Given the description of an element on the screen output the (x, y) to click on. 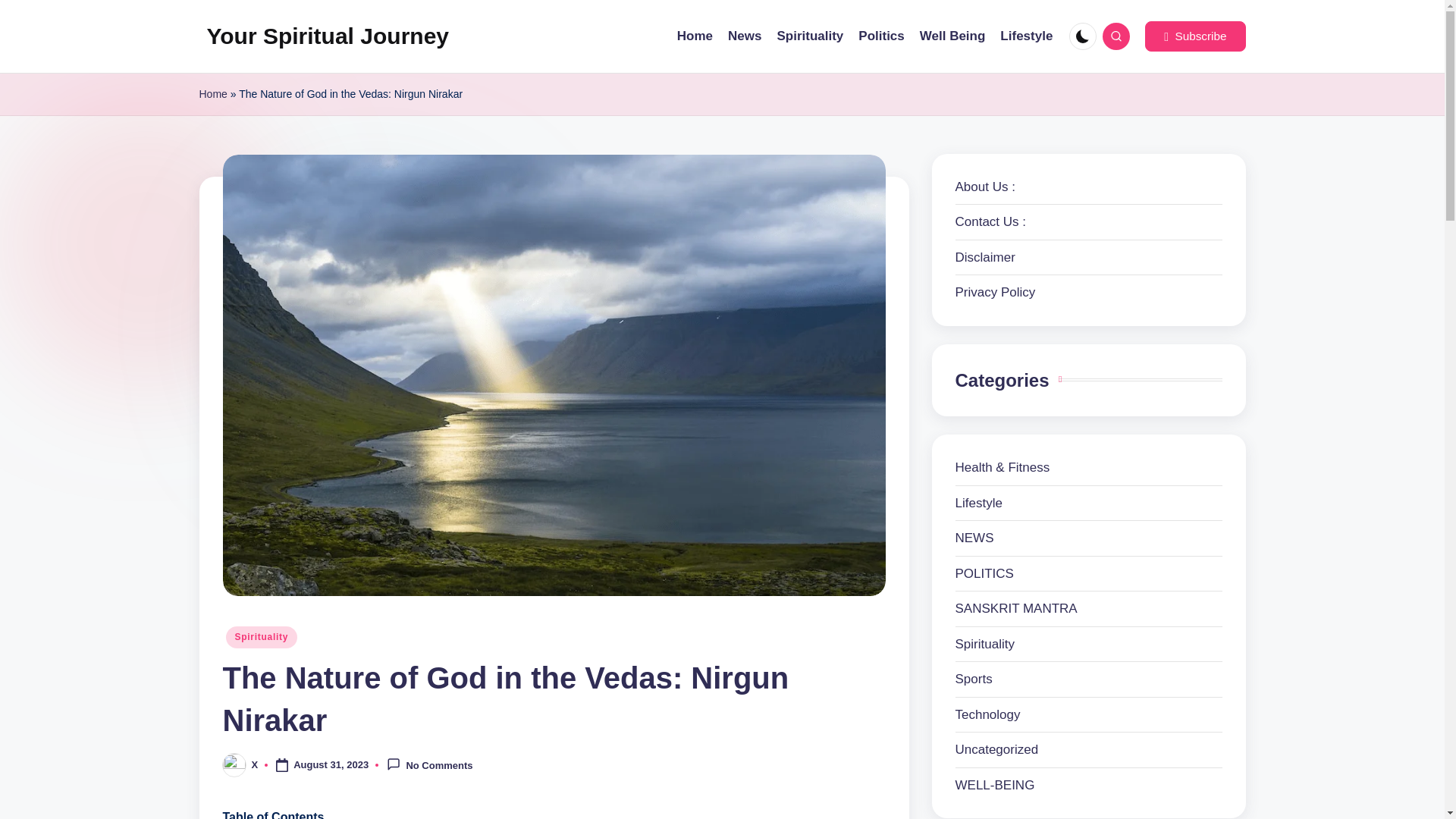
Contact Us : (990, 221)
Home (212, 94)
Your Spiritual Journey (327, 36)
NEWS (1089, 537)
Privacy Policy (995, 292)
Lifestyle (1026, 36)
Spirituality (809, 36)
Well Being (952, 36)
Disclaimer (984, 257)
No Comments (429, 764)
Politics (881, 36)
Subscribe (1194, 36)
About Us : (984, 186)
News (744, 36)
POLITICS (1089, 573)
